Given the description of an element on the screen output the (x, y) to click on. 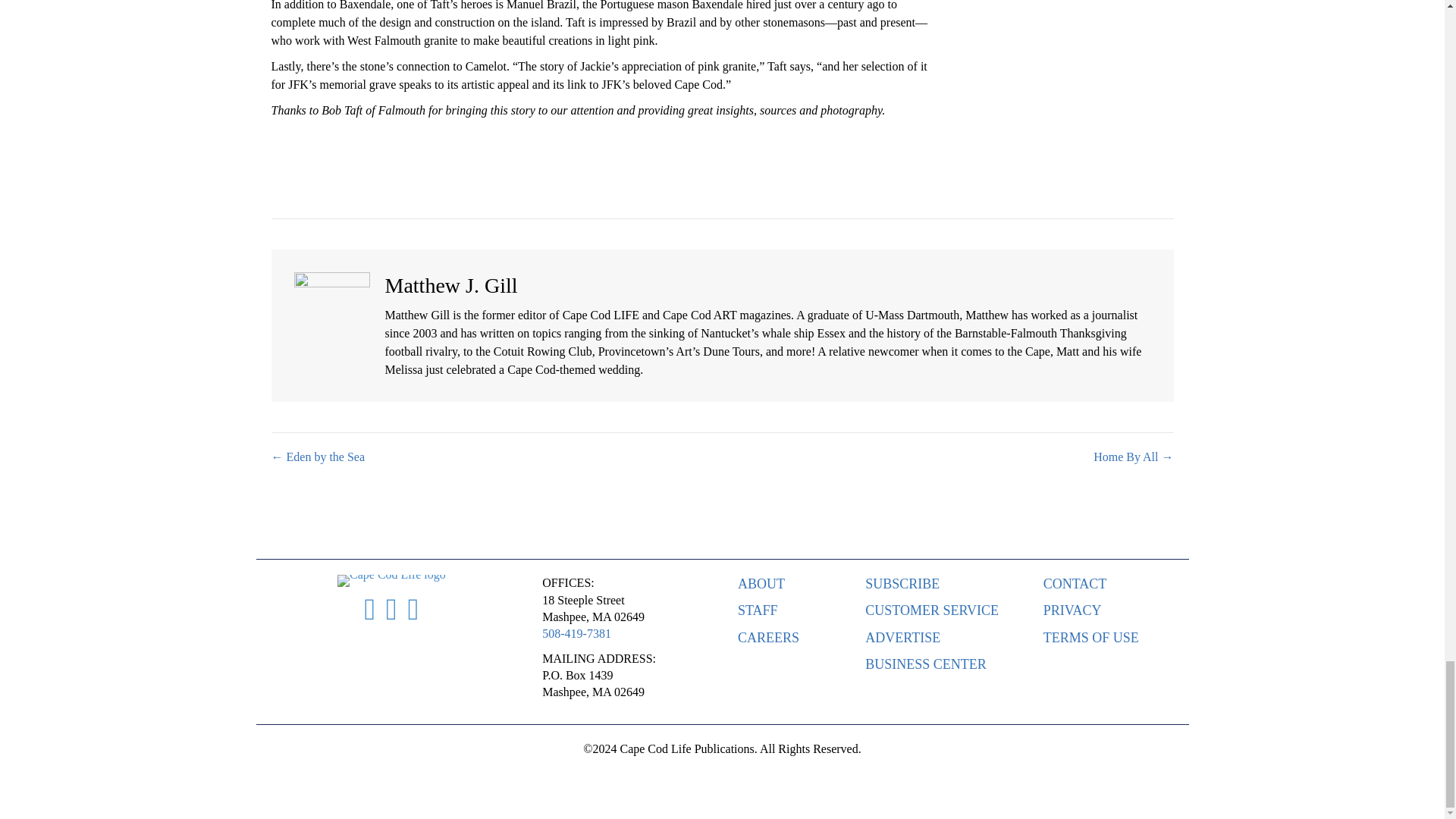
ccl-logo (391, 580)
